Given the description of an element on the screen output the (x, y) to click on. 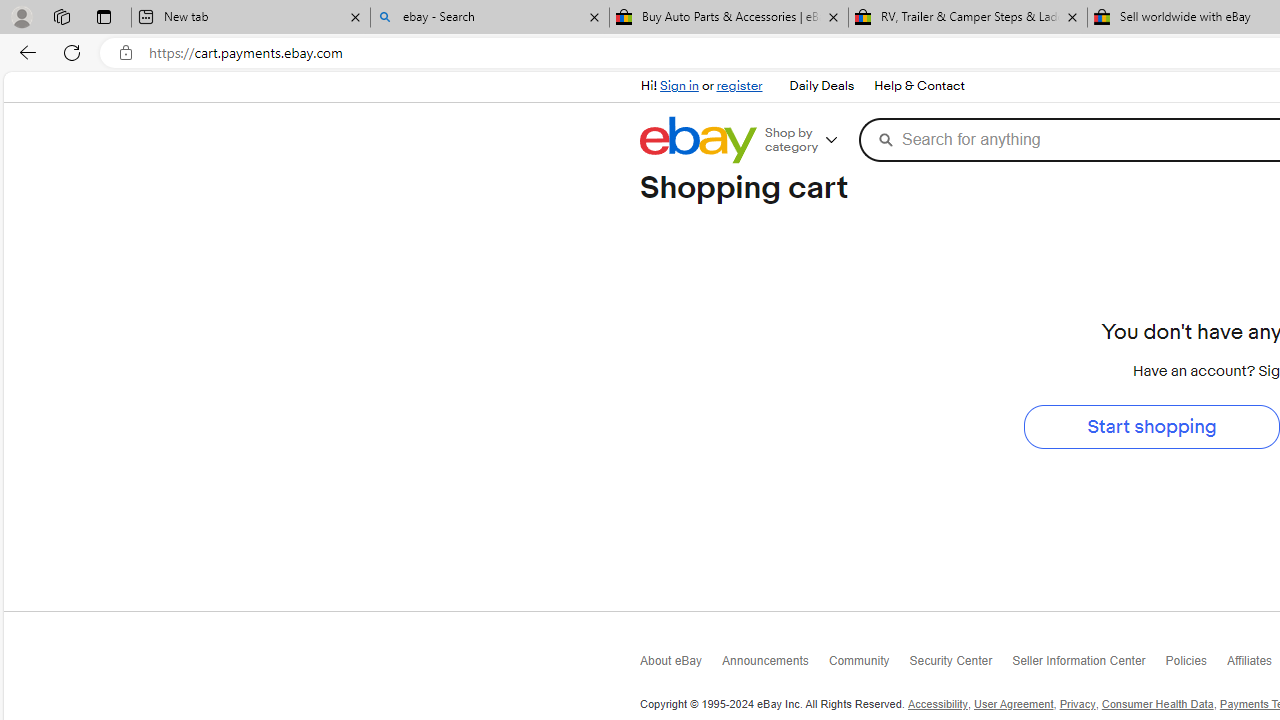
RV, Trailer & Camper Steps & Ladders for sale | eBay (967, 17)
About eBay (681, 665)
Policies (1195, 664)
User Agreement (1013, 704)
Privacy (1076, 704)
Consumer Health Data (1156, 704)
